Given the description of an element on the screen output the (x, y) to click on. 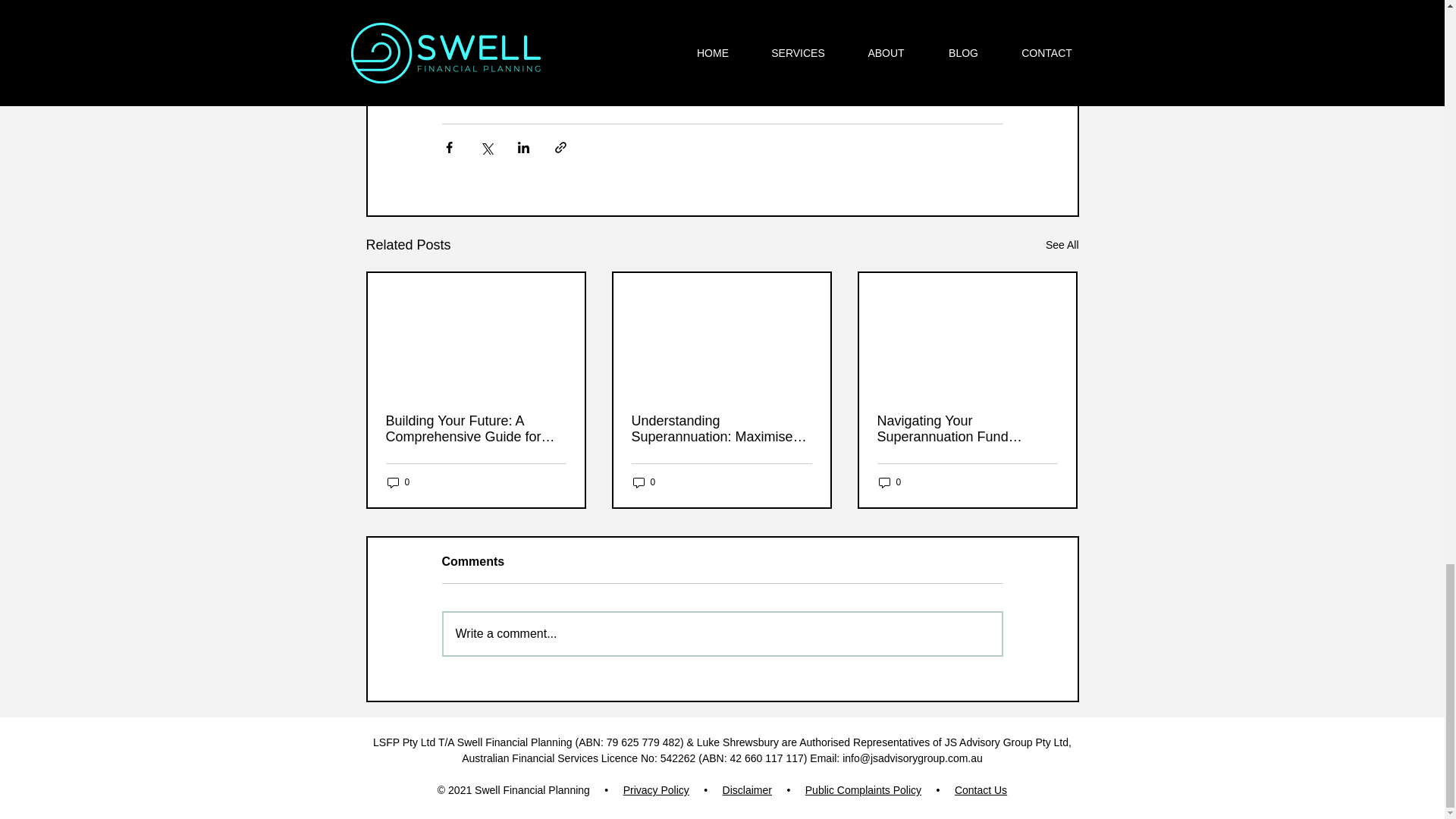
Disclaimer (746, 789)
Write a comment... (721, 633)
Public Complaints Policy (863, 789)
0 (643, 482)
0 (889, 482)
Contact Us (981, 789)
See All (1061, 245)
0 (397, 482)
Privacy Policy (655, 789)
